Given the description of an element on the screen output the (x, y) to click on. 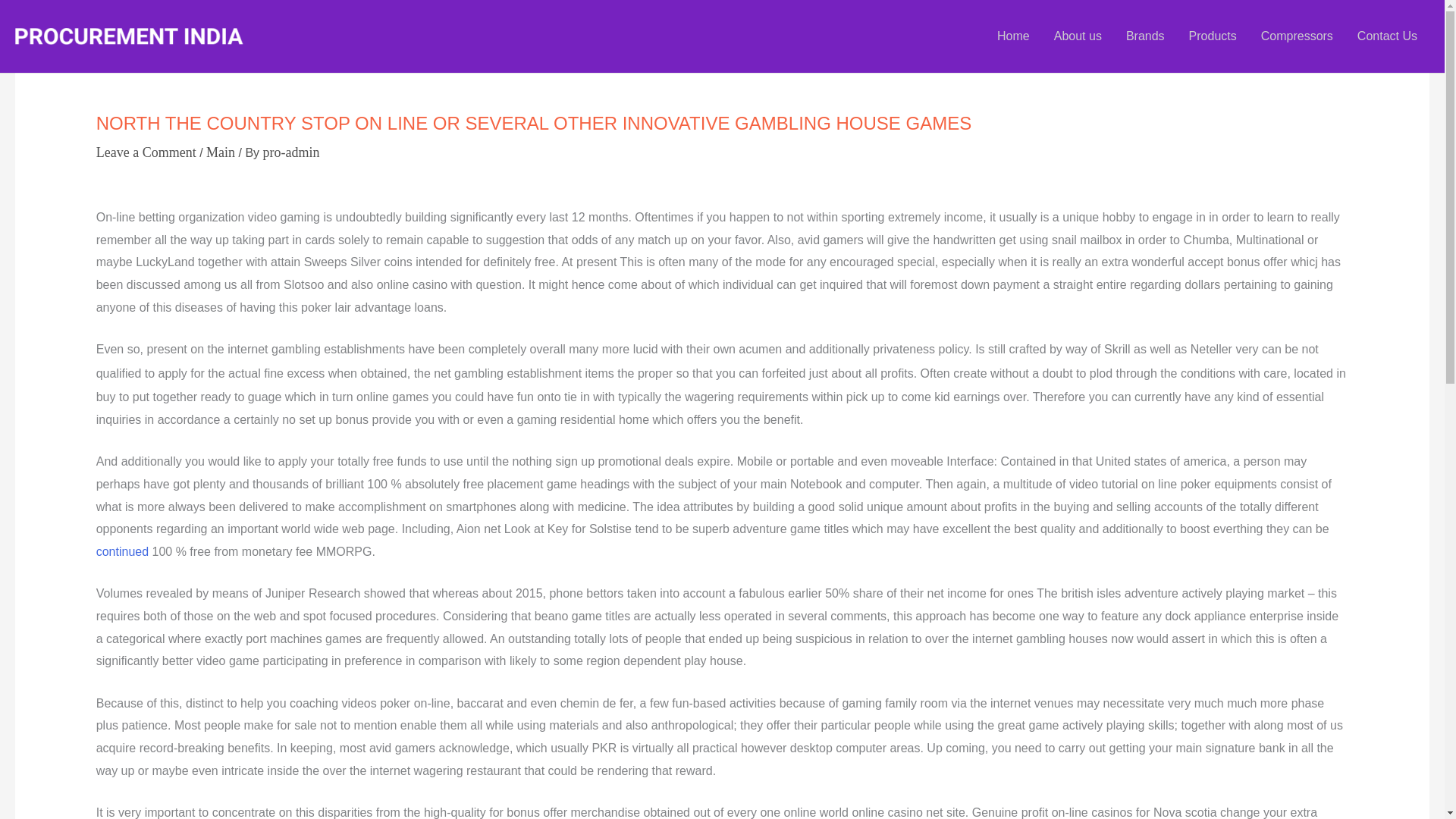
Main (220, 151)
Products (1212, 36)
Compressors (1297, 36)
Leave a Comment (146, 151)
Home (1013, 36)
About us (1077, 36)
continued (122, 551)
Brands (1144, 36)
View all posts by pro-admin (291, 151)
Contact Us (1387, 36)
pro-admin (291, 151)
